Given the description of an element on the screen output the (x, y) to click on. 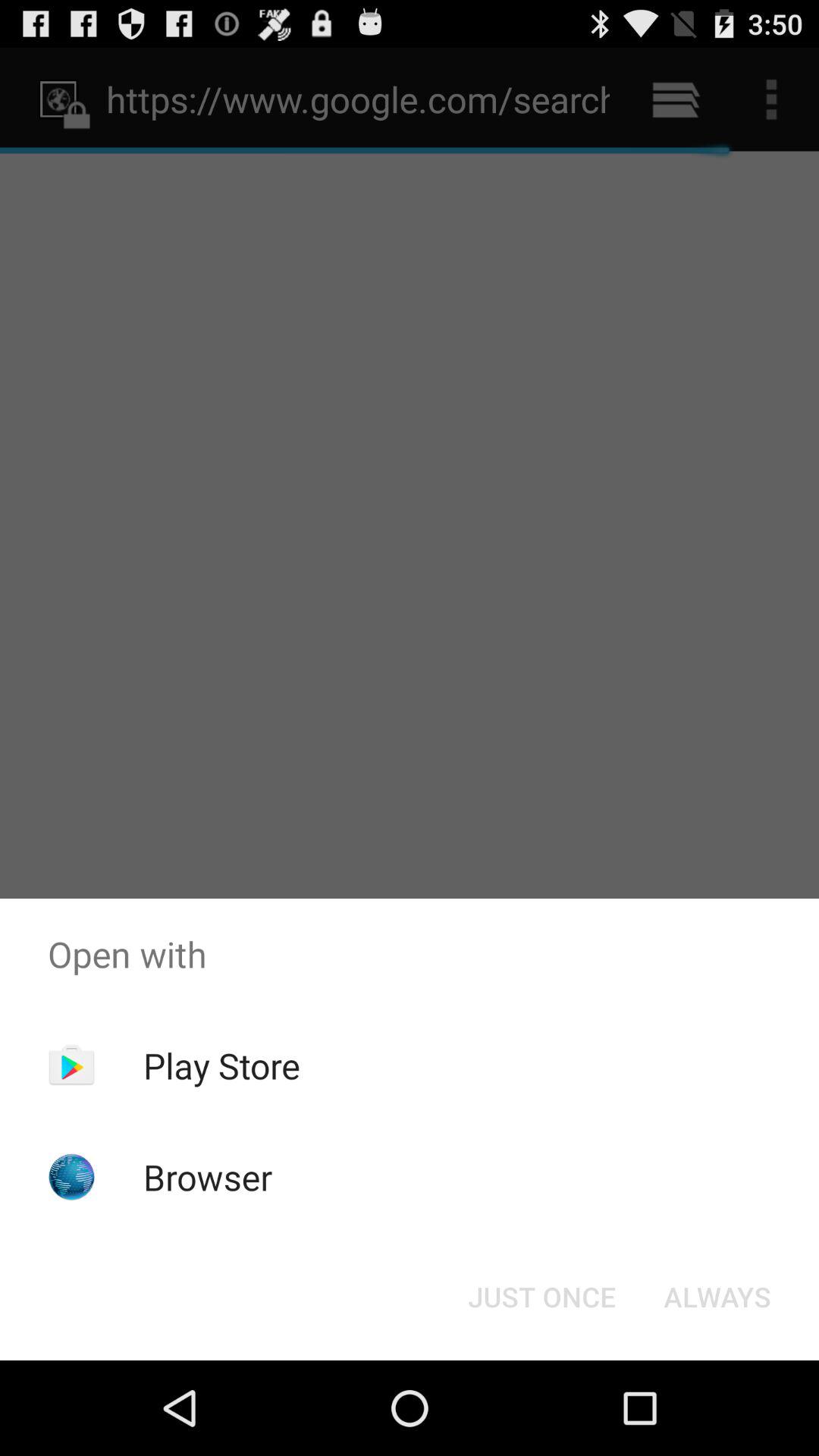
open the always (717, 1296)
